Given the description of an element on the screen output the (x, y) to click on. 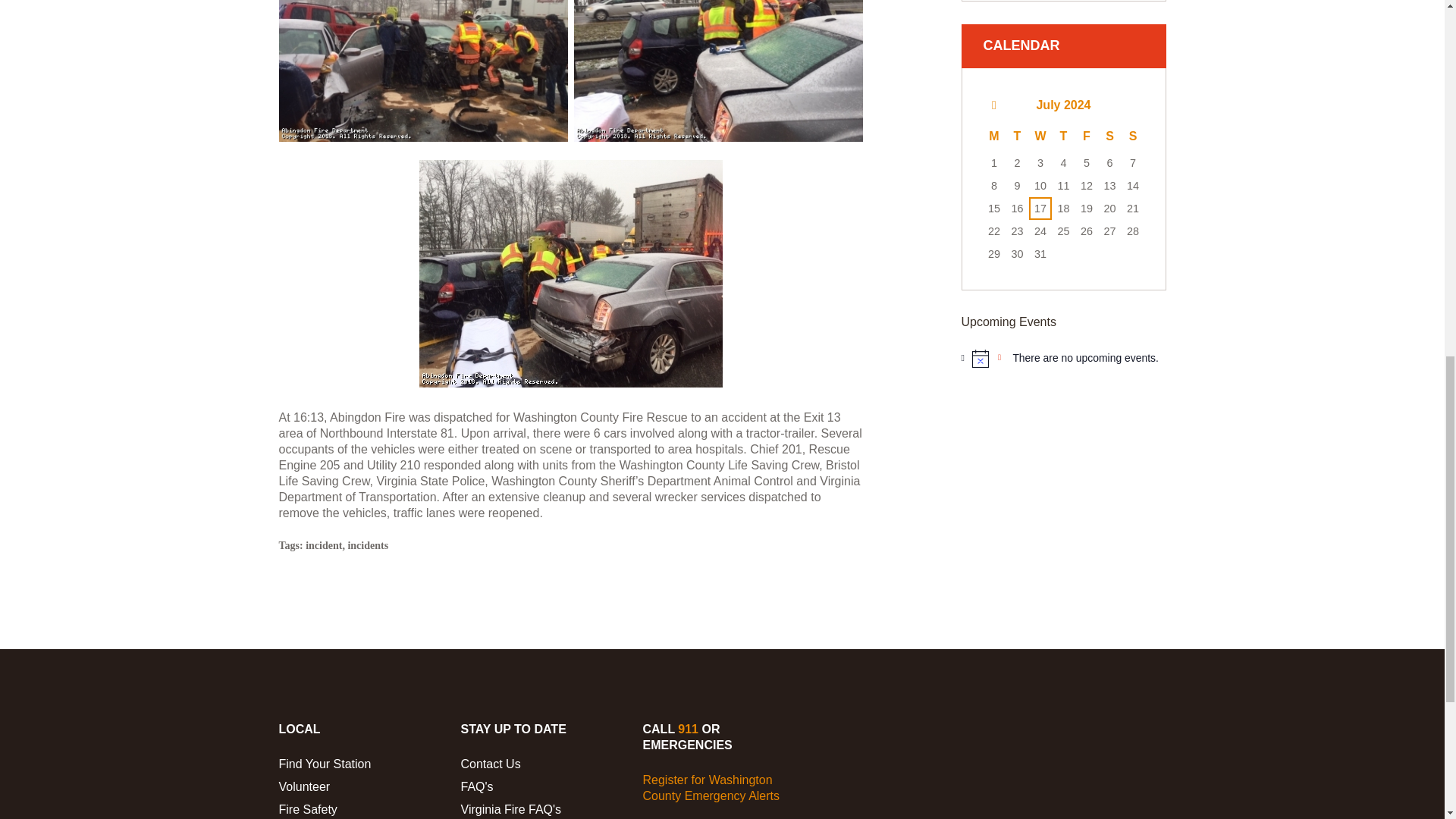
View posts for November 2023 (994, 105)
